Given the description of an element on the screen output the (x, y) to click on. 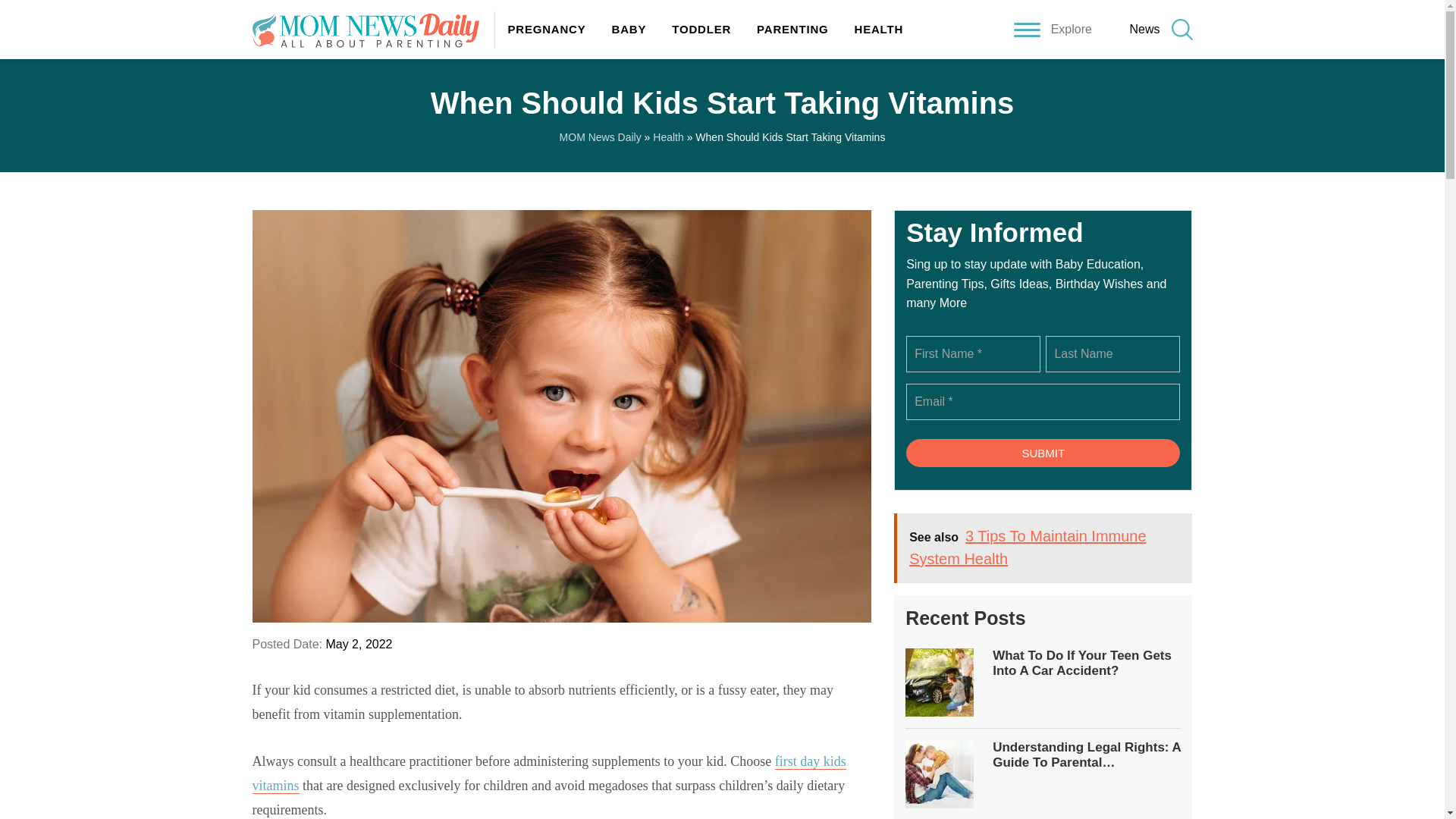
PREGNANCY (546, 29)
TODDLER (701, 29)
Health (667, 137)
News (1143, 29)
MOM News Daily (600, 137)
BABY (628, 29)
PARENTING (792, 29)
HEALTH (872, 29)
